Given the description of an element on the screen output the (x, y) to click on. 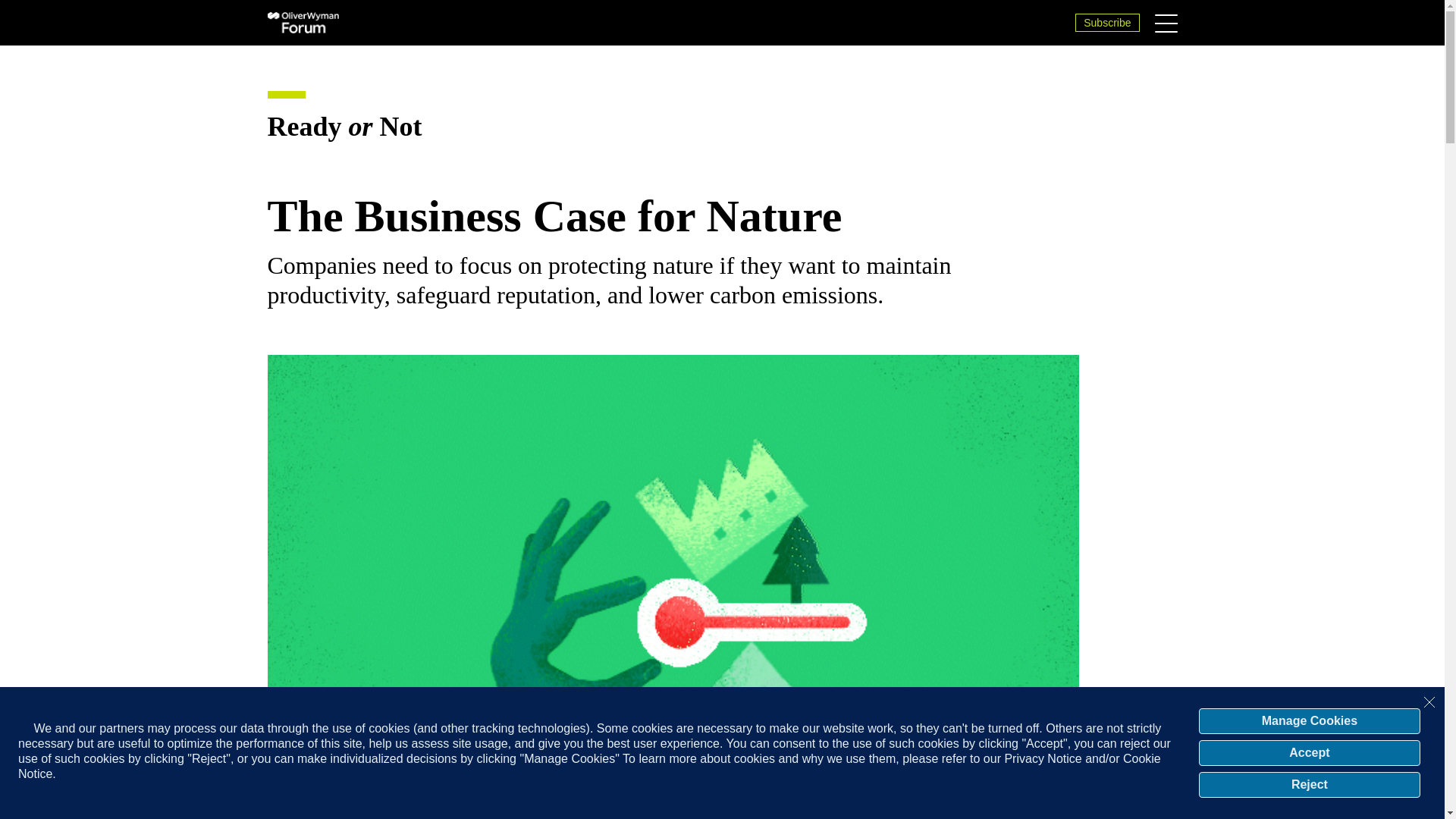
Accept (1309, 752)
Reject (1309, 784)
Manage Cookies (1309, 720)
Subscribe (1106, 22)
